Given the description of an element on the screen output the (x, y) to click on. 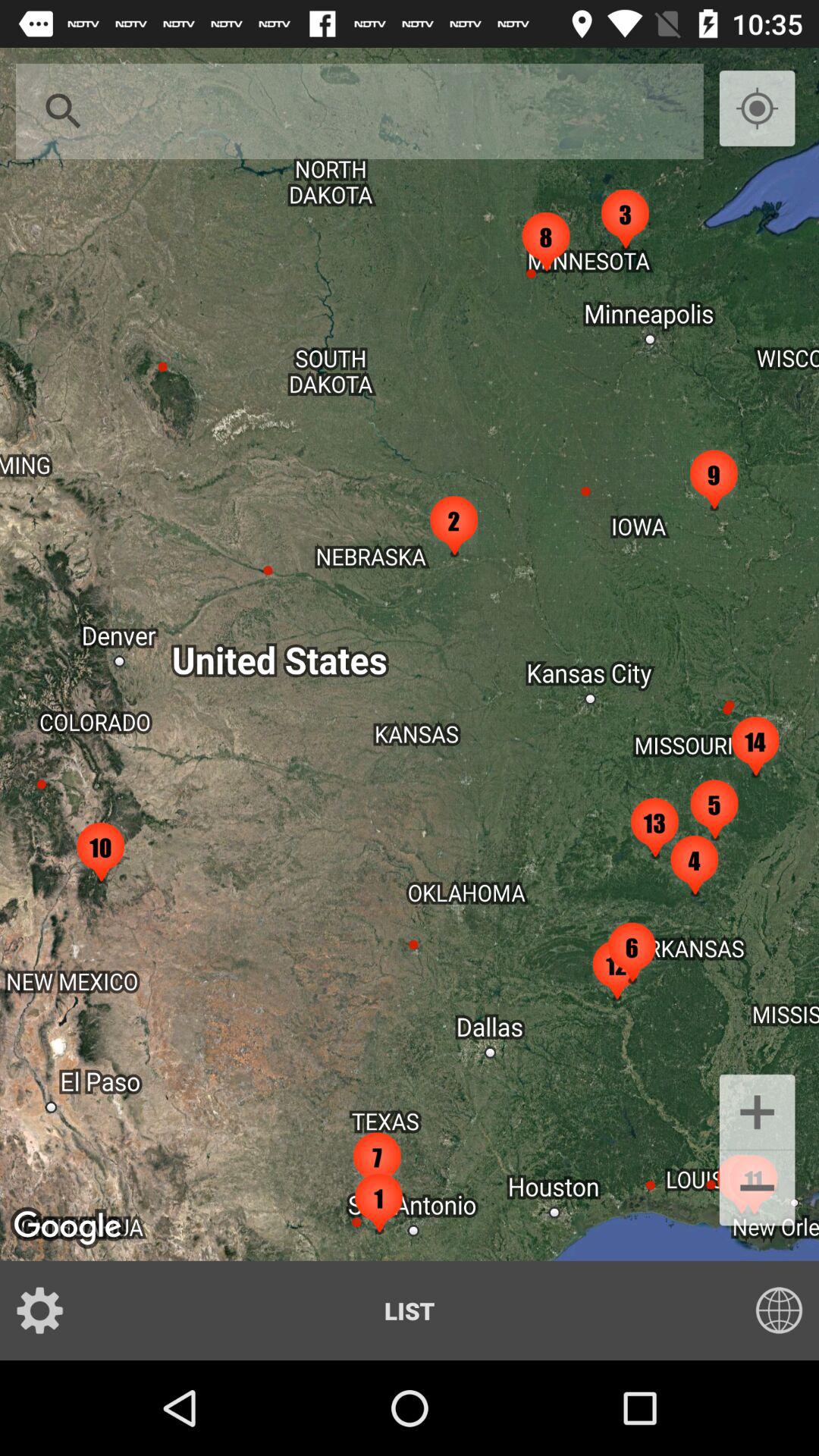
turn on the item at the center (409, 653)
